Given the description of an element on the screen output the (x, y) to click on. 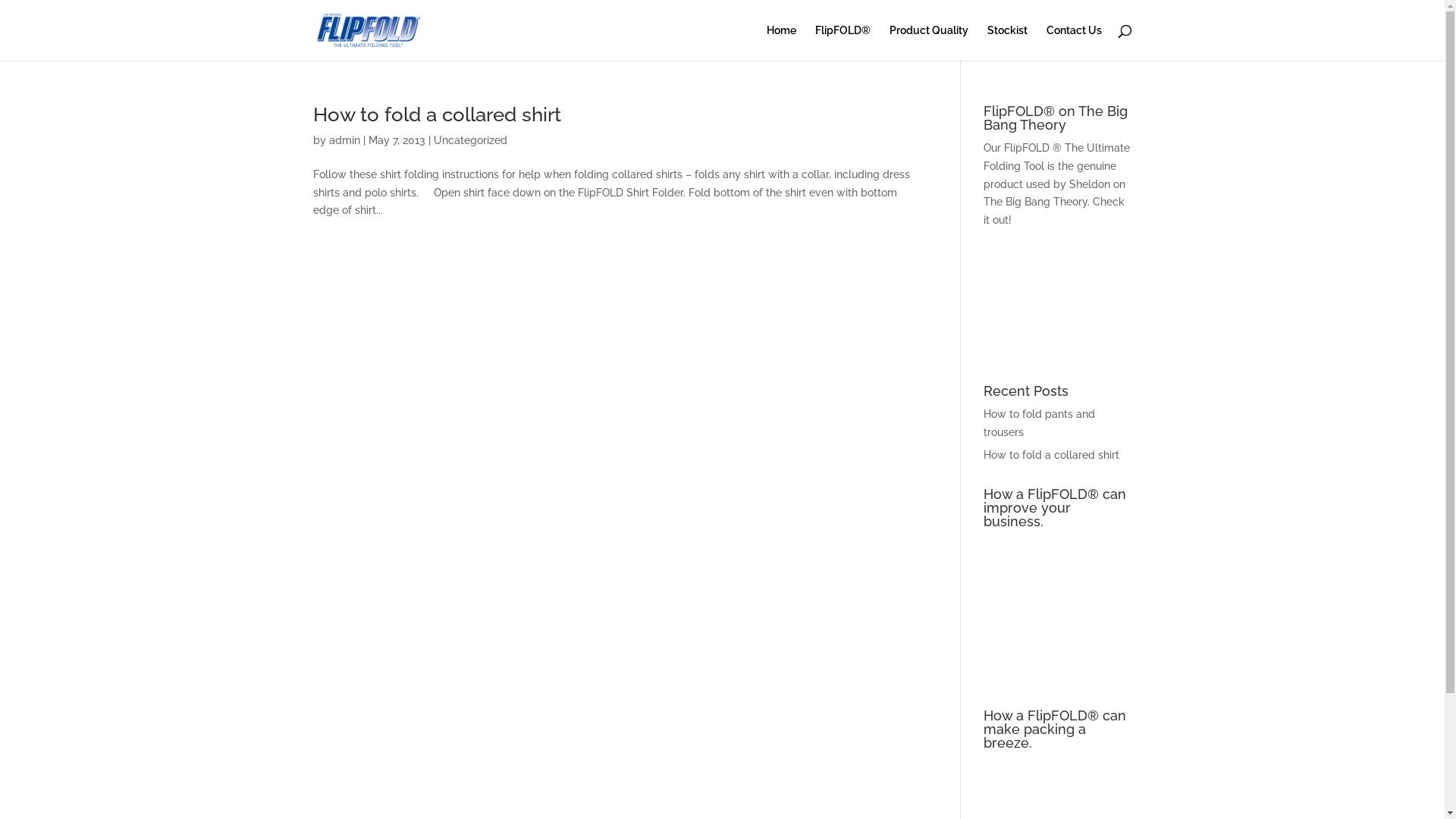
Home Element type: text (780, 42)
How to fold a collared shirt Element type: text (436, 114)
Stockist Element type: text (1007, 42)
How to fold a collared shirt Element type: text (1051, 454)
How to fold pants and trousers Element type: text (1039, 422)
Product Quality Element type: text (927, 42)
admin Element type: text (344, 140)
Uncategorized Element type: text (470, 140)
Contact Us Element type: text (1073, 42)
